Given the description of an element on the screen output the (x, y) to click on. 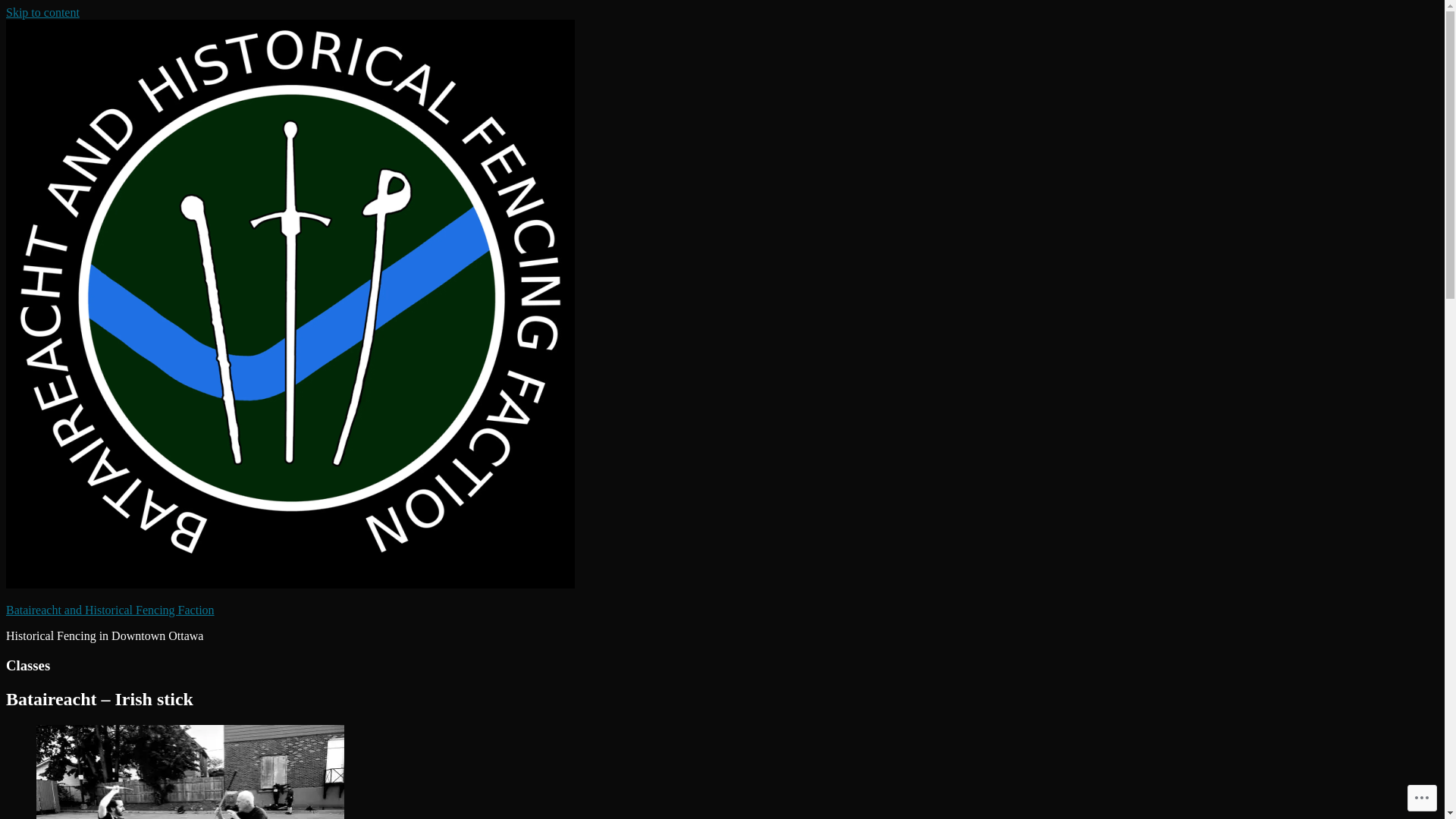
Bataireacht and Historical Fencing Faction Element type: text (110, 609)
Skip to content Element type: text (42, 12)
